Given the description of an element on the screen output the (x, y) to click on. 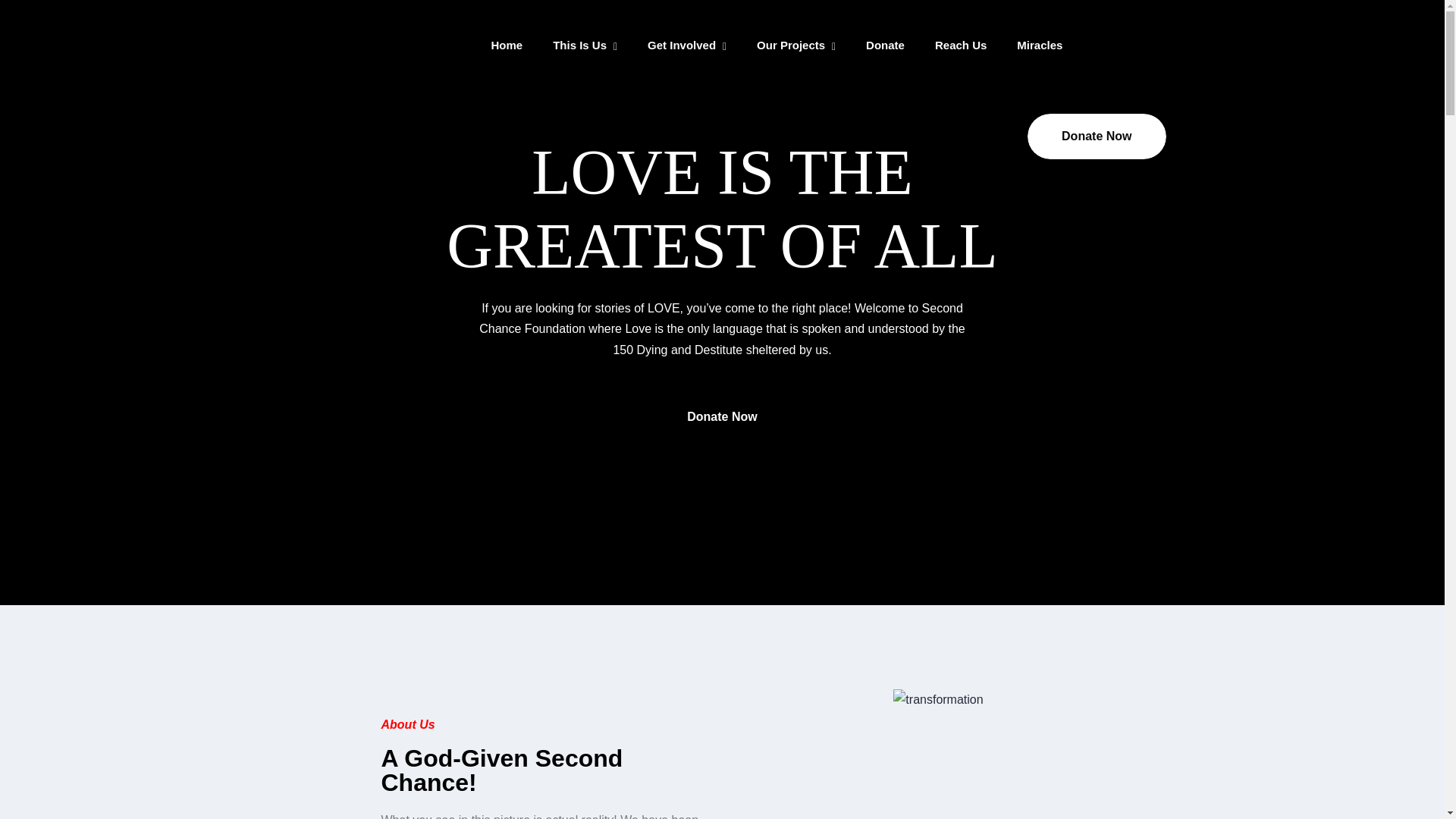
Reach Us (960, 44)
Our Projects (791, 44)
transformation (937, 699)
Home (507, 44)
Miracles (1039, 44)
Donate (885, 44)
This Is Us (580, 44)
Donate Now (721, 416)
Donate Now (1096, 135)
Get Involved (681, 44)
